Given the description of an element on the screen output the (x, y) to click on. 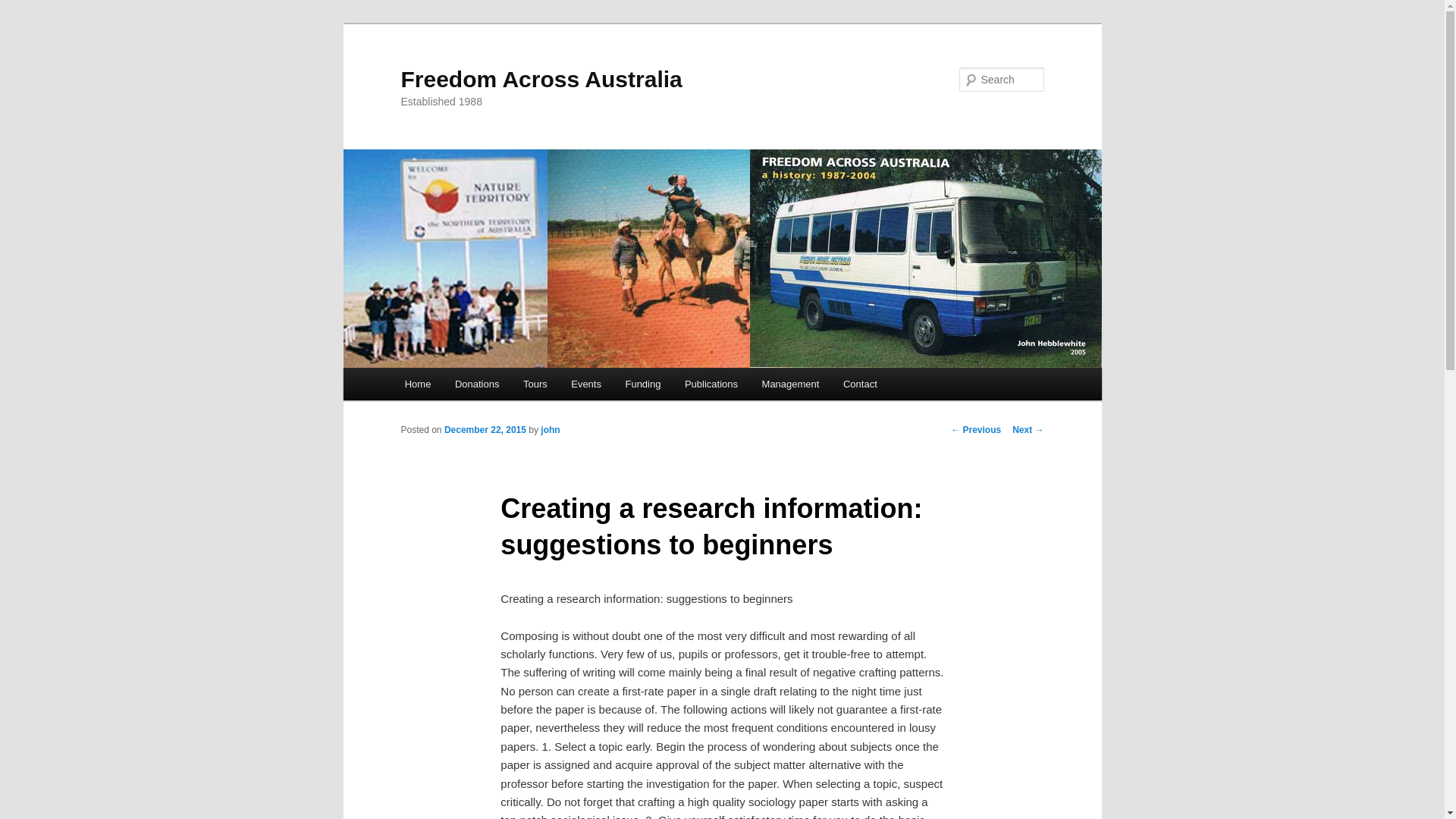
Freedom Across Australia Element type: text (540, 78)
Events Element type: text (585, 383)
December 22, 2015 Element type: text (485, 429)
Publications Element type: text (710, 383)
Tours Element type: text (534, 383)
Donations Element type: text (476, 383)
Skip to primary content Element type: text (22, 22)
Search Element type: text (24, 8)
Funding Element type: text (642, 383)
Home Element type: text (417, 383)
john Element type: text (549, 429)
Contact Element type: text (859, 383)
Management Element type: text (790, 383)
